Given the description of an element on the screen output the (x, y) to click on. 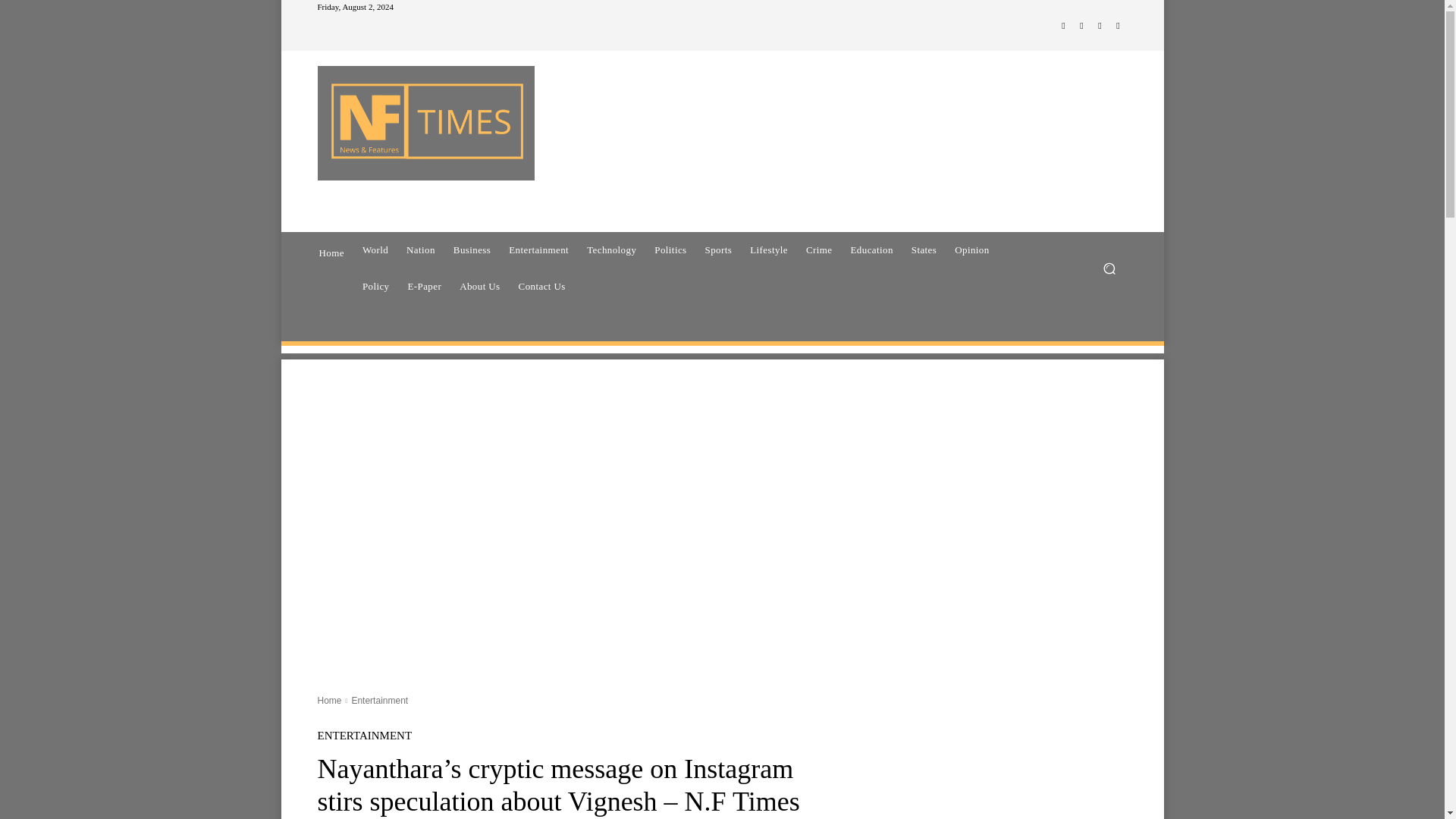
Policy (375, 286)
Facebook (1062, 25)
Lifestyle (768, 249)
Politics (670, 249)
Youtube (1117, 25)
Opinion (970, 249)
Business (471, 249)
View all posts in Entertainment (378, 700)
World (375, 249)
States (923, 249)
Technology (611, 249)
Nation (420, 249)
Home (330, 251)
Instagram (1080, 25)
Crime (818, 249)
